Given the description of an element on the screen output the (x, y) to click on. 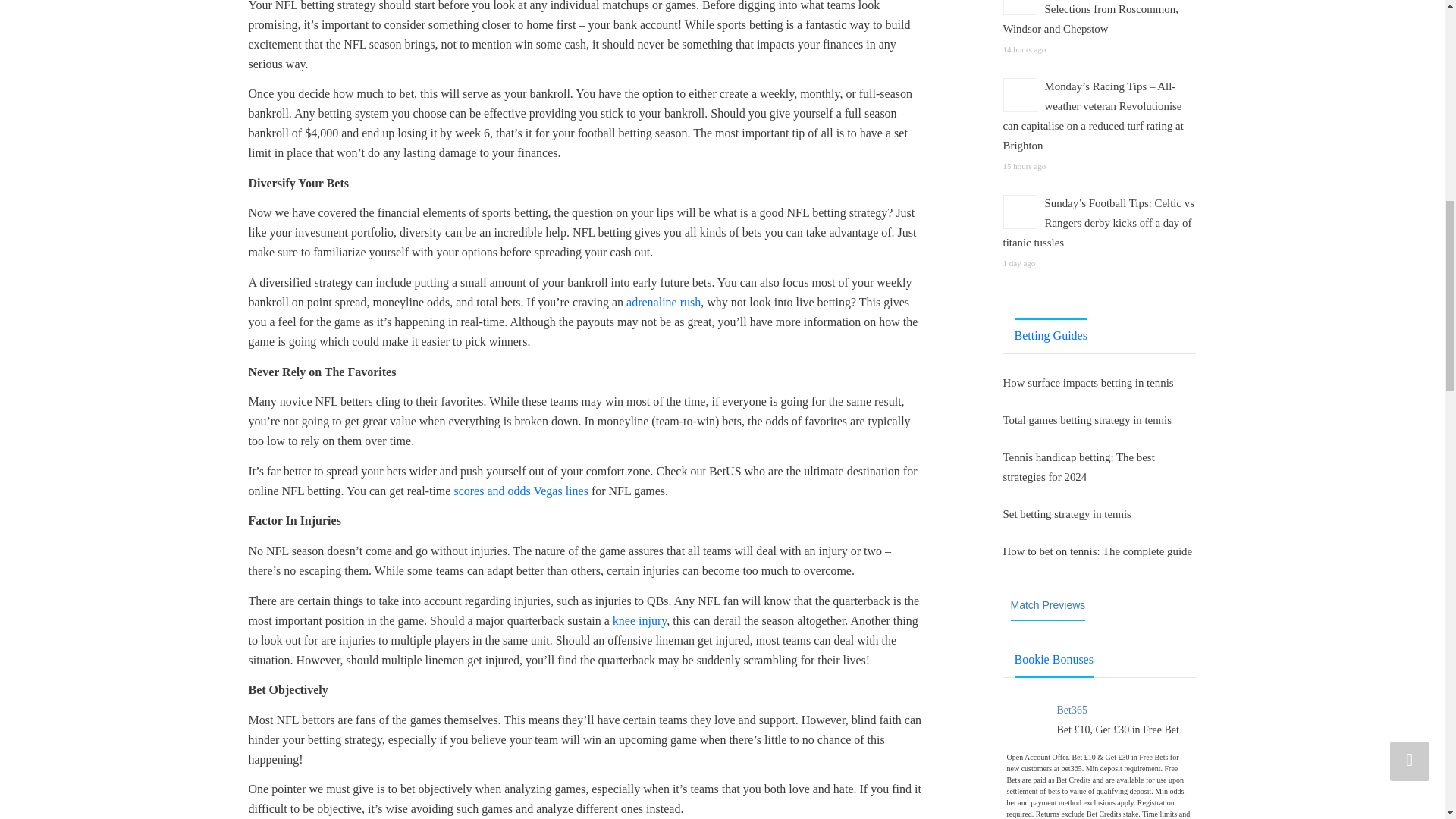
knee injury (639, 620)
scores and odds Vegas lines (520, 490)
adrenaline rush (663, 301)
